Given the description of an element on the screen output the (x, y) to click on. 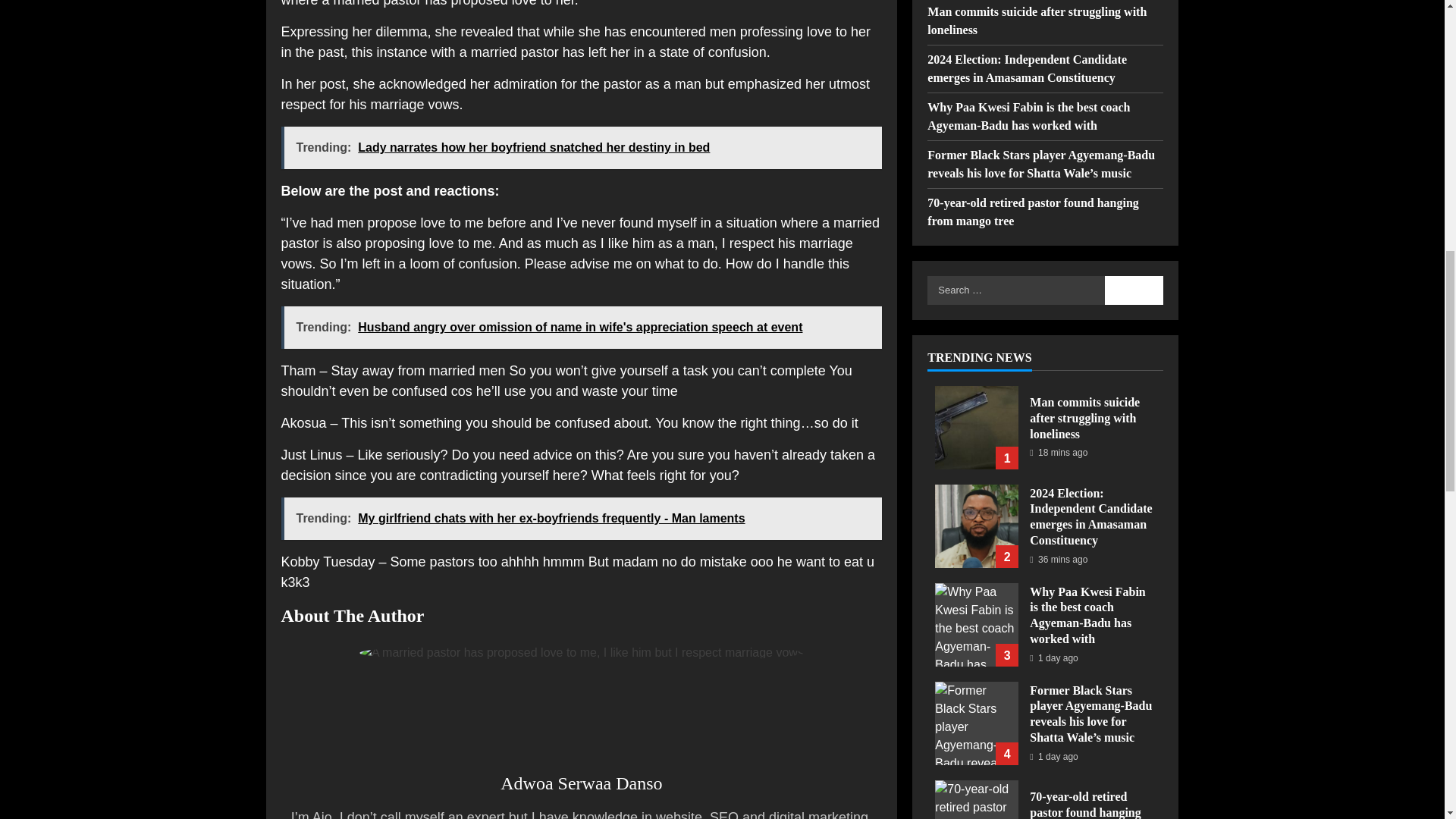
Adwoa Serwaa Danso (581, 783)
70-year-old retired pastor found hanging from mango tree (975, 262)
